Given the description of an element on the screen output the (x, y) to click on. 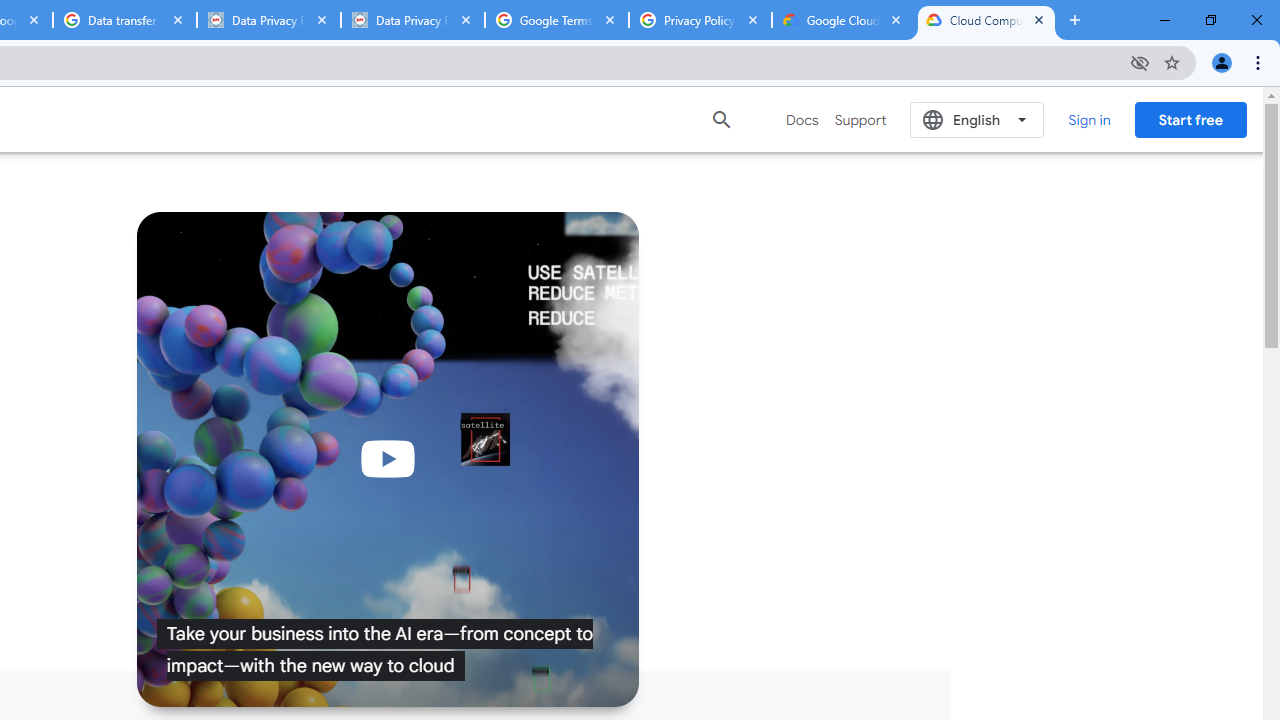
Google Cloud Privacy Notice (843, 20)
Cloud Computing Services | Google Cloud (986, 20)
